Given the description of an element on the screen output the (x, y) to click on. 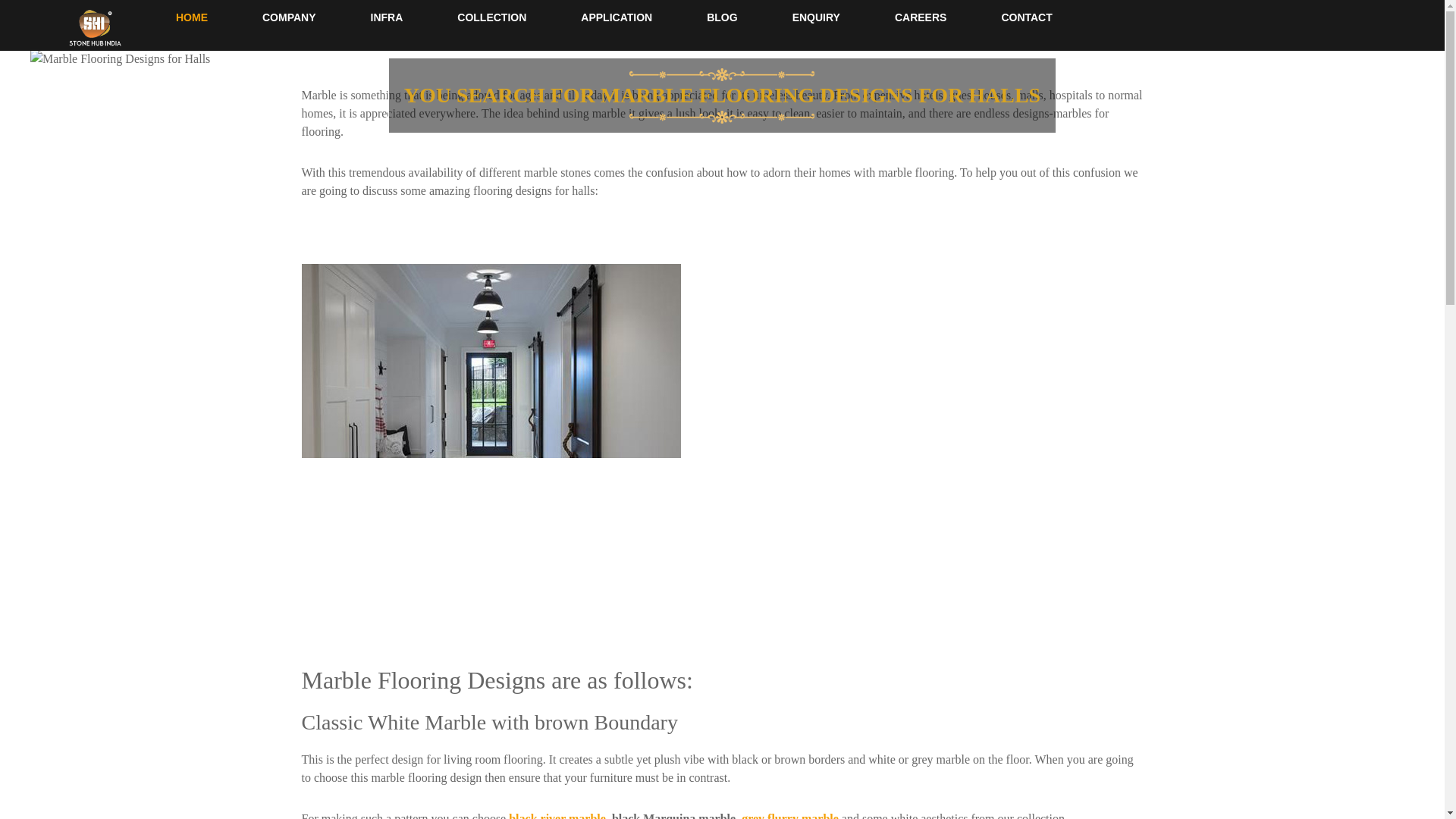
HOME (191, 17)
COMPANY (288, 17)
APPLICATION (616, 17)
INFRA (386, 17)
BLOG (721, 17)
CAREERS (920, 17)
ENQUIRY (816, 17)
CONTACT (1026, 17)
grey flurry marble (789, 815)
COLLECTION (491, 17)
black river marble (556, 815)
